Given the description of an element on the screen output the (x, y) to click on. 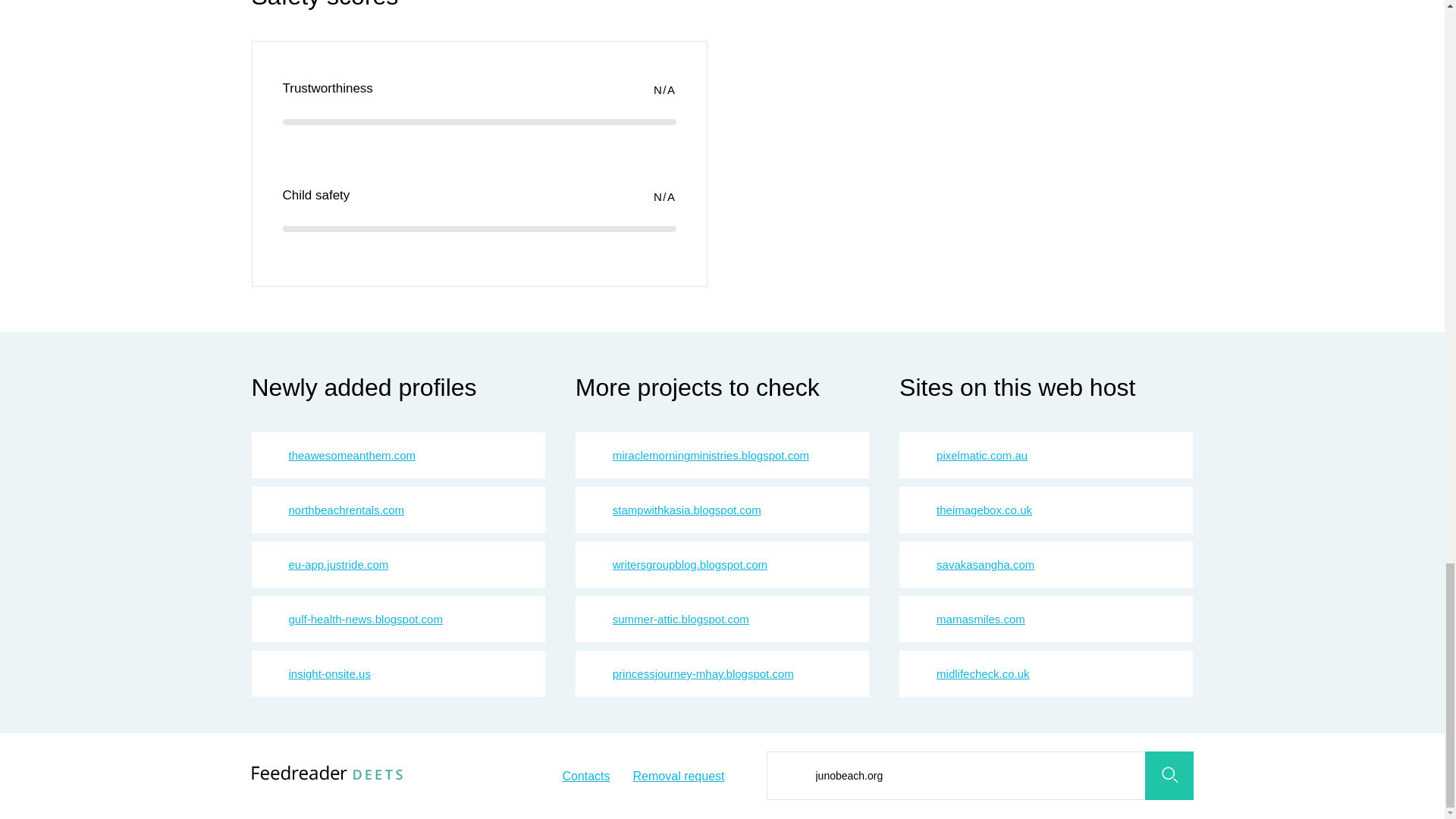
Contacts (586, 775)
writersgroupblog.blogspot.com (689, 563)
mamasmiles.com (980, 618)
midlifecheck.co.uk (982, 673)
northbeachrentals.com (346, 509)
theawesomeanthem.com (351, 454)
savakasangha.com (984, 563)
junobeach.org (978, 775)
stampwithkasia.blogspot.com (686, 509)
theimagebox.co.uk (984, 509)
